Given the description of an element on the screen output the (x, y) to click on. 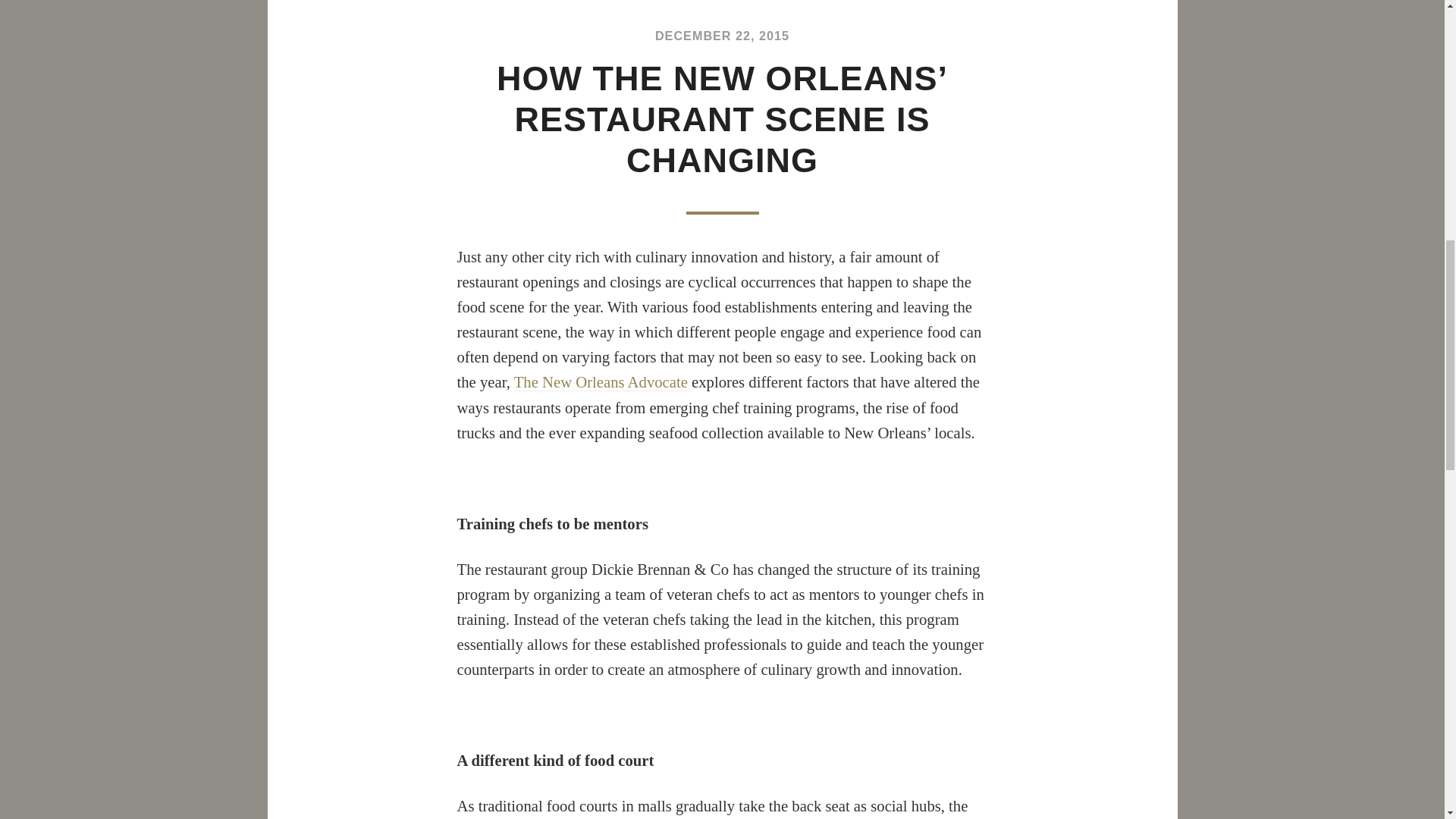
The New Orleans Advocate (600, 382)
DECEMBER 22, 2015 (722, 35)
